Given the description of an element on the screen output the (x, y) to click on. 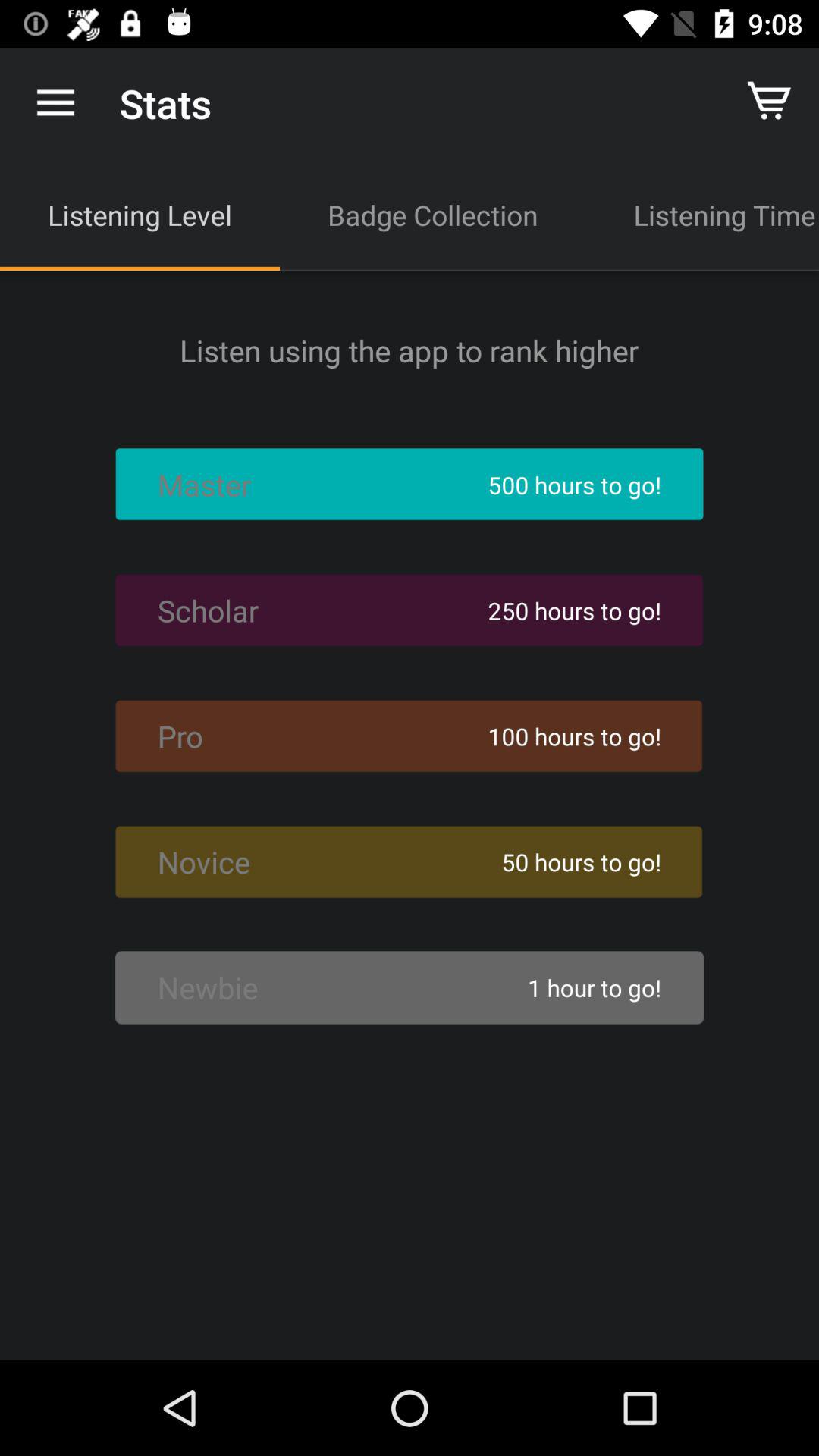
open the app next to the stats (55, 103)
